Given the description of an element on the screen output the (x, y) to click on. 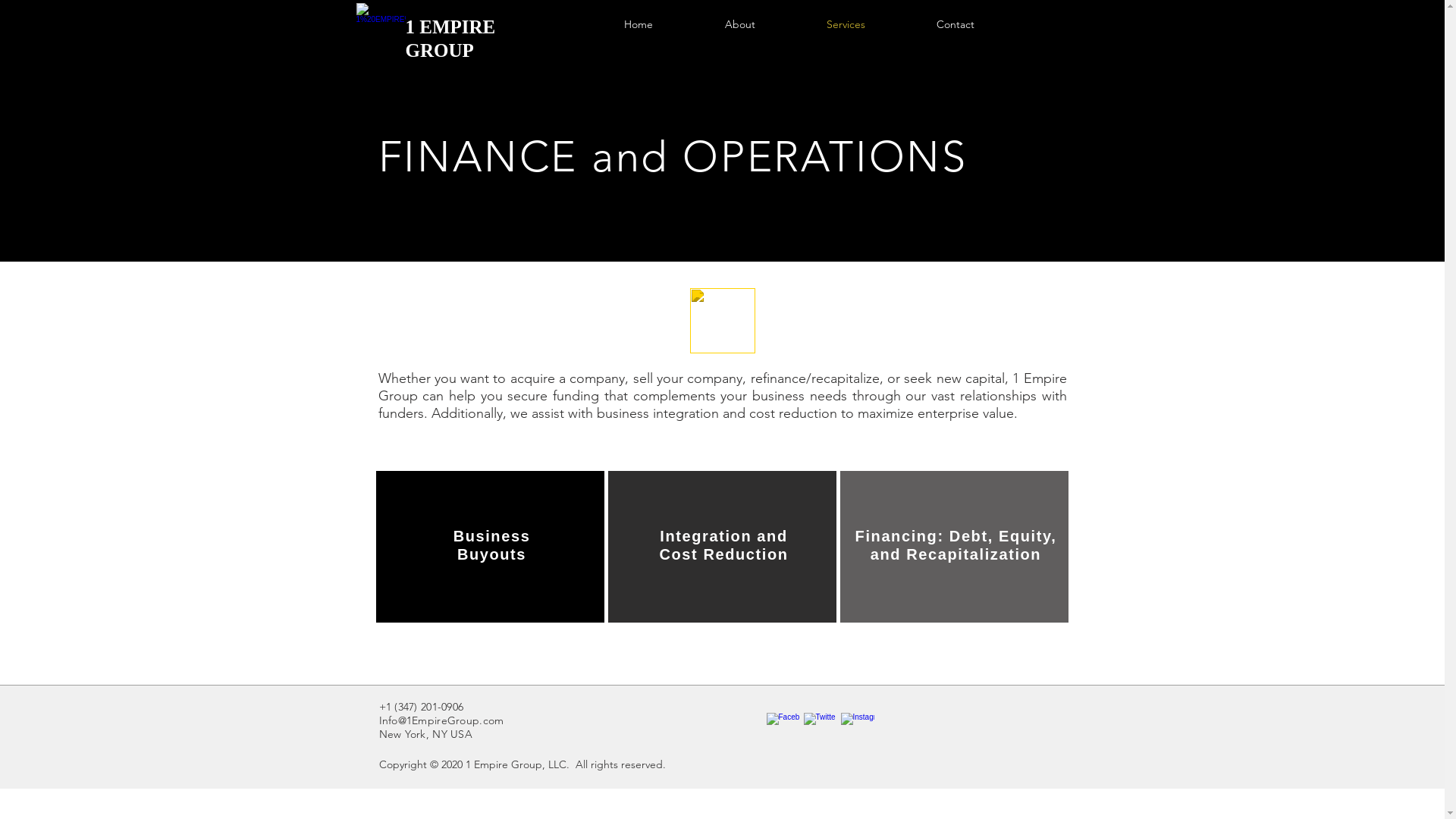
Home Element type: text (638, 24)
1 EMPIRE GROUP Element type: text (449, 38)
About Element type: text (739, 24)
Contact Element type: text (955, 24)
Services Element type: text (845, 24)
Info@1EmpireGroup.com Element type: text (441, 720)
